Given the description of an element on the screen output the (x, y) to click on. 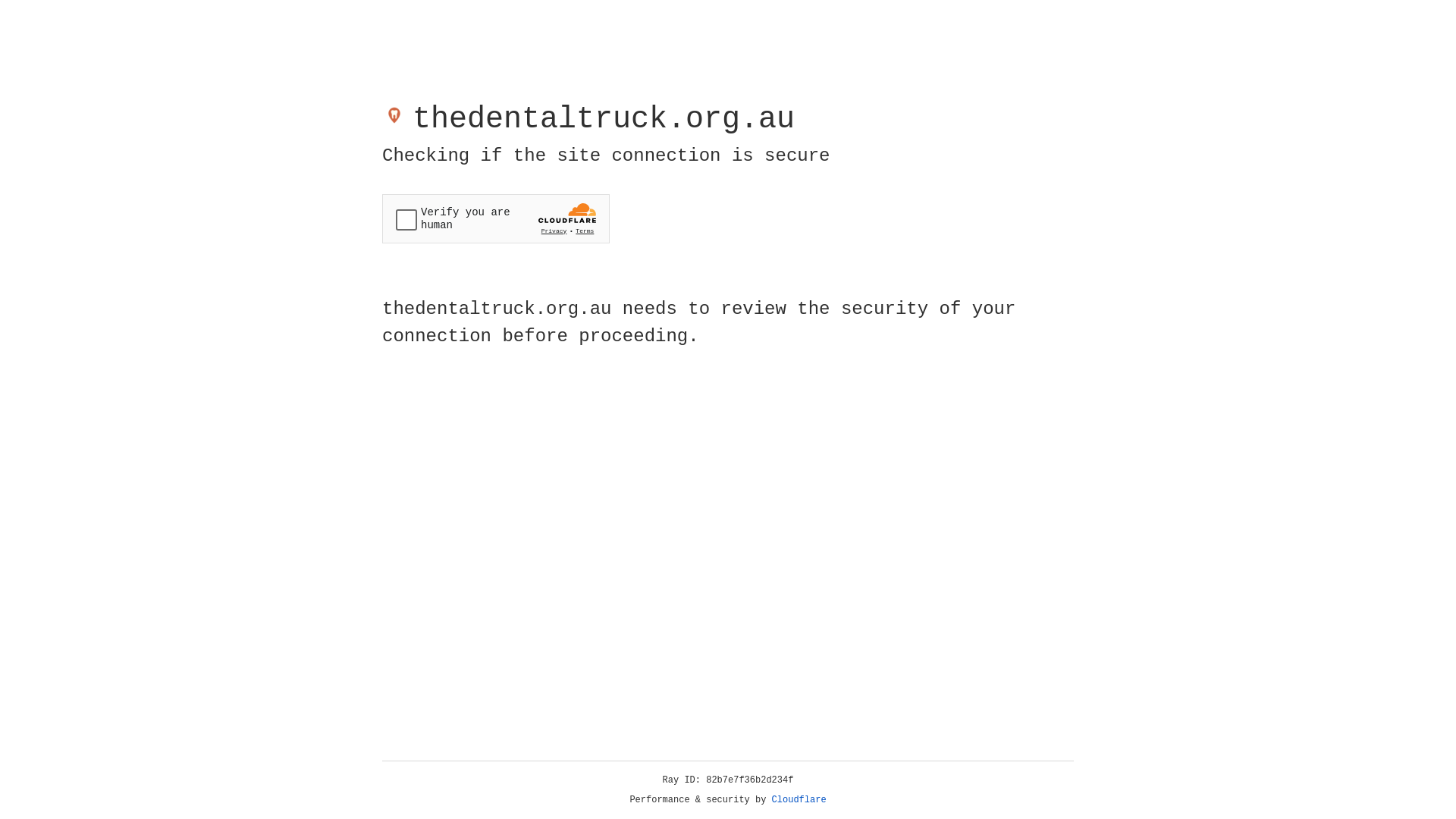
Cloudflare Element type: text (798, 799)
Widget containing a Cloudflare security challenge Element type: hover (495, 218)
